Given the description of an element on the screen output the (x, y) to click on. 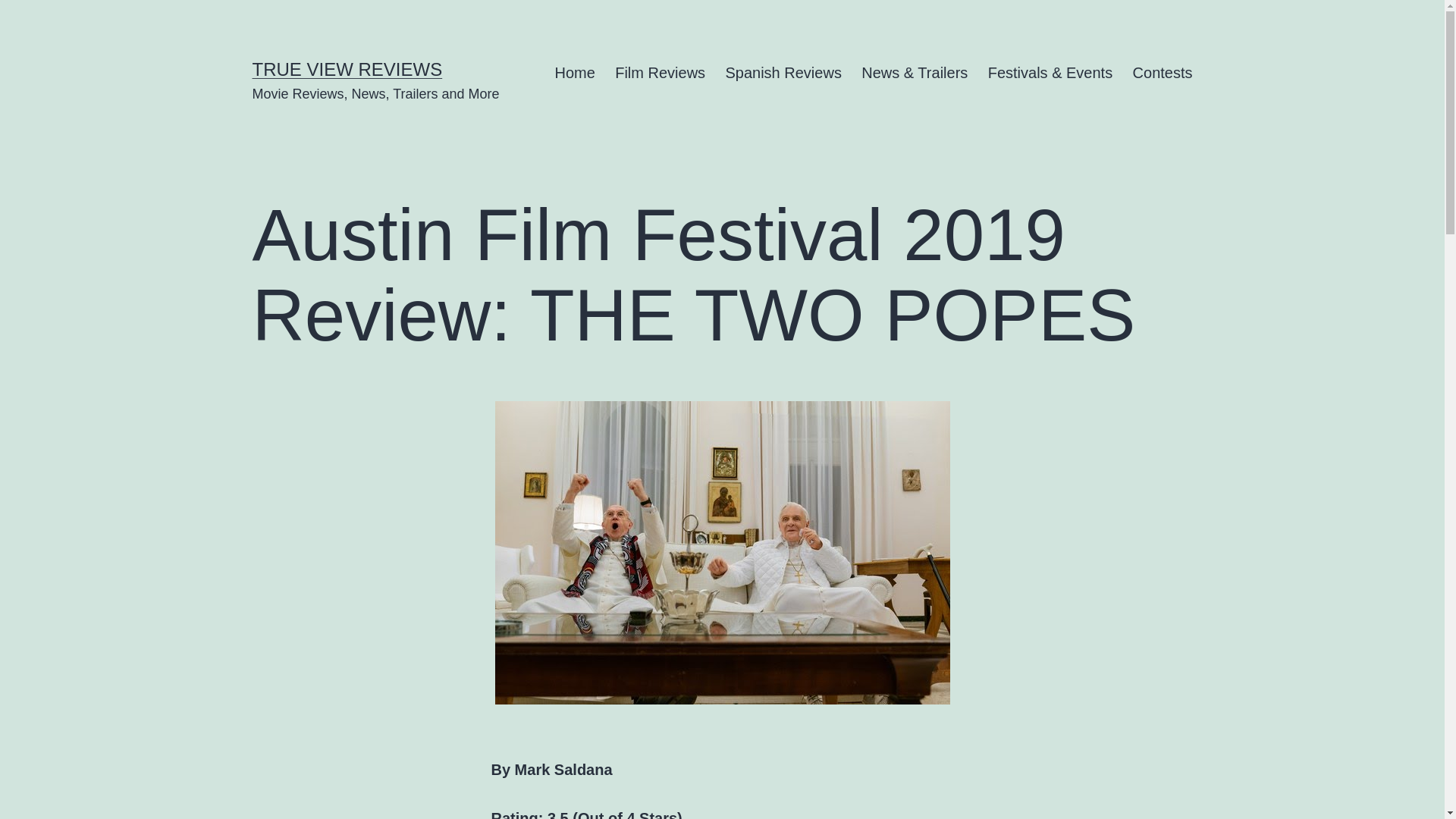
Spanish Reviews (782, 72)
Contests (1162, 72)
Film Reviews (659, 72)
Home (574, 72)
TRUE VIEW REVIEWS (346, 68)
